Given the description of an element on the screen output the (x, y) to click on. 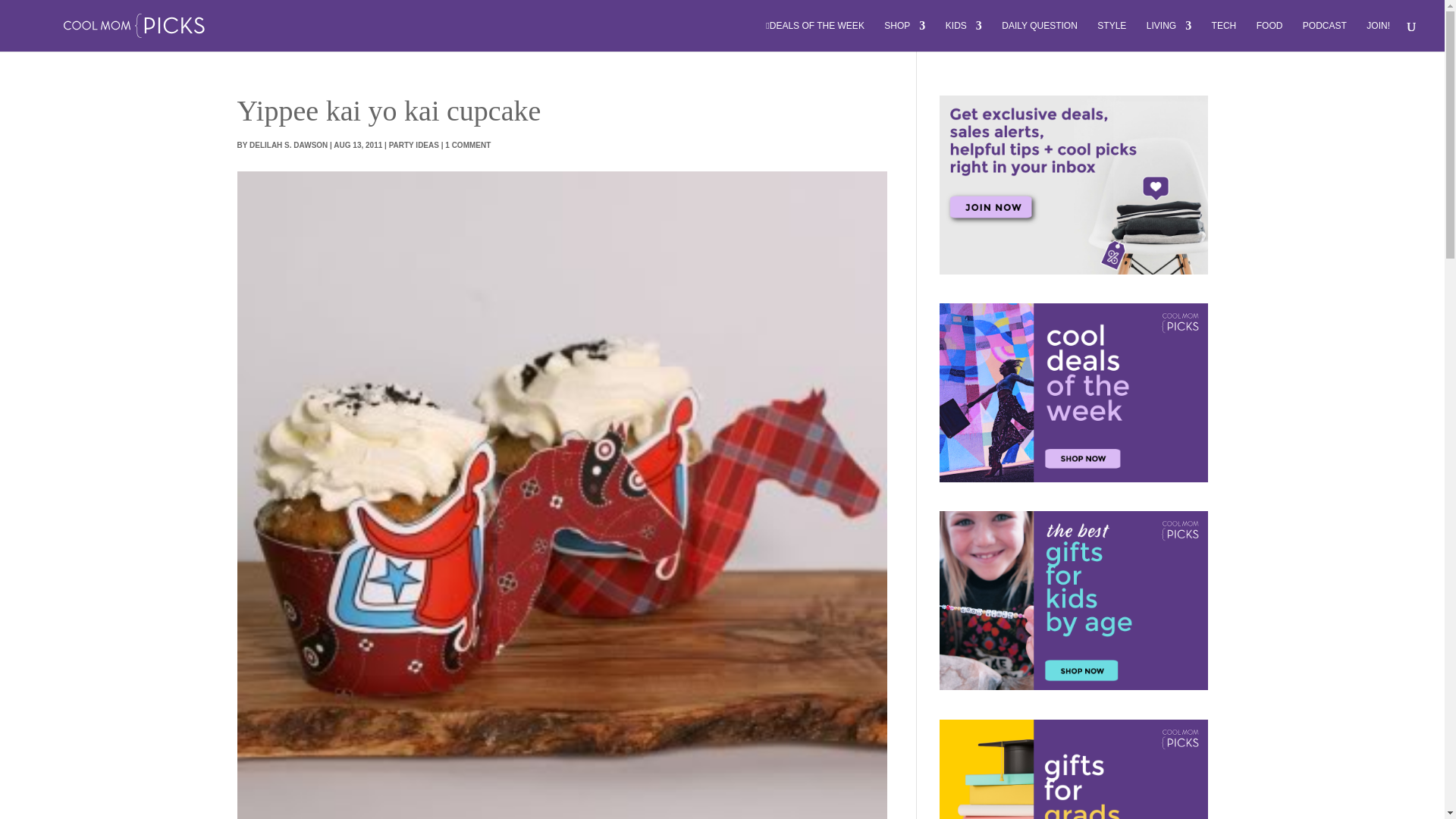
KIDS (962, 35)
Posts by Delilah S. Dawson (287, 144)
LIVING (1169, 35)
DAILY QUESTION (1039, 35)
SHOP (903, 35)
PODCAST (1324, 35)
Our Ultimate Kids Gift Guide: The Best Gifts By Age (1073, 600)
STYLE (1111, 35)
